Given the description of an element on the screen output the (x, y) to click on. 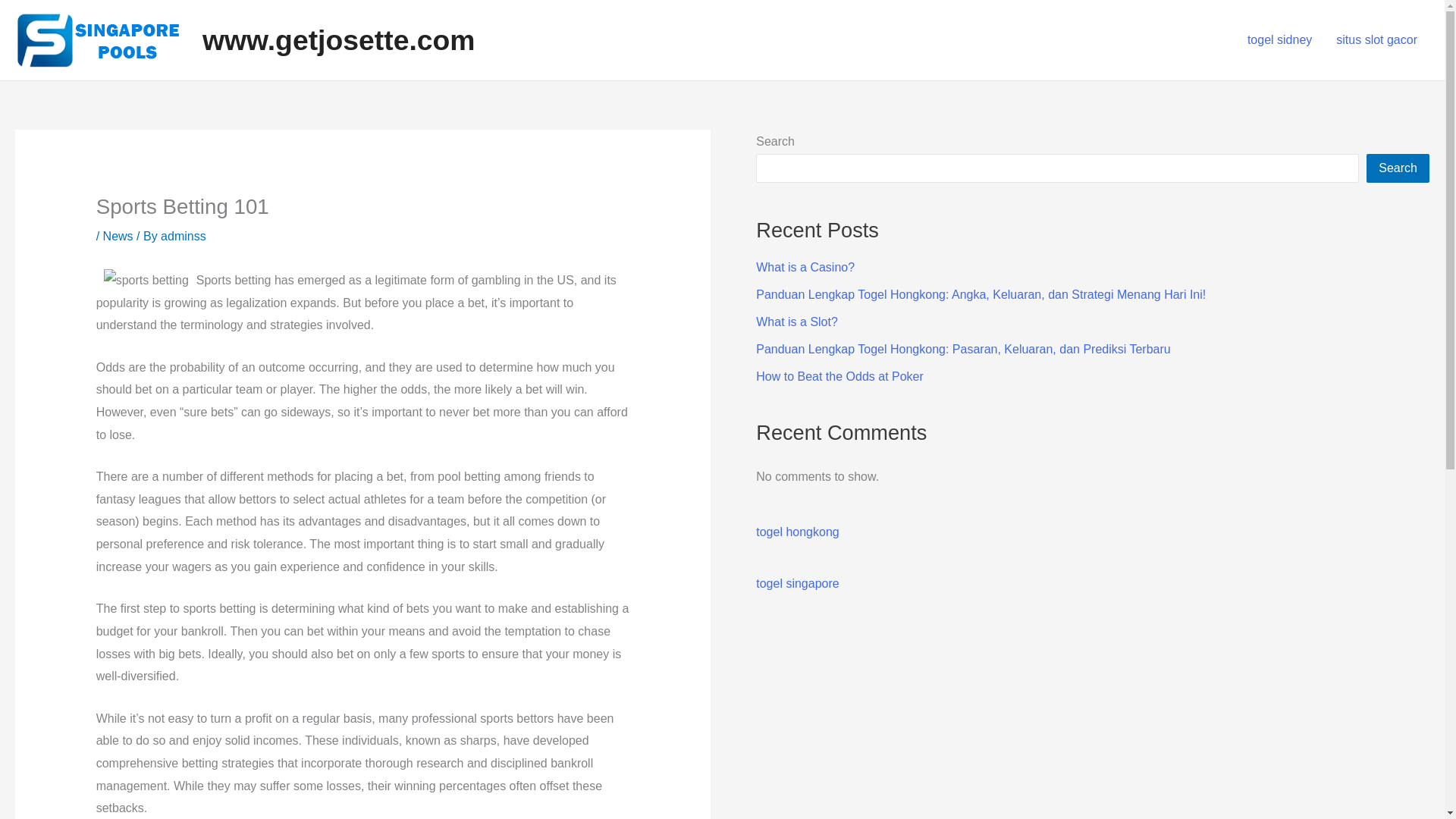
View all posts by adminss (183, 236)
togel hongkong (796, 531)
situs slot gacor (1376, 39)
How to Beat the Odds at Poker (839, 376)
What is a Casino? (804, 267)
adminss (183, 236)
togel singapore (796, 583)
Search (1398, 167)
